Given the description of an element on the screen output the (x, y) to click on. 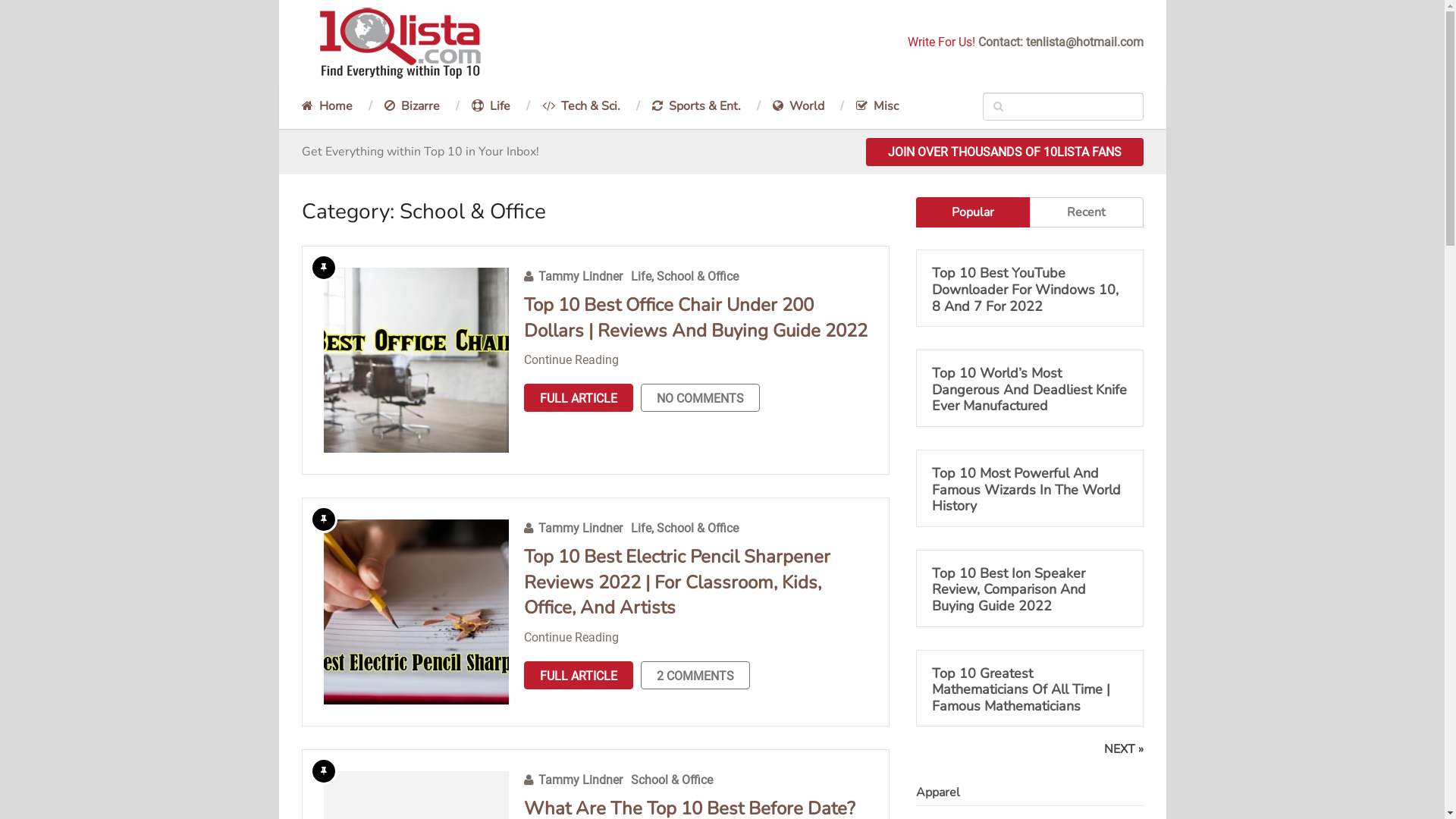
Home Element type: text (334, 106)
School & Office Element type: text (671, 779)
Apparel Element type: text (938, 792)
School & Office Element type: text (697, 527)
Top 10 Most Powerful And Famous Wizards In The World History Element type: text (1028, 489)
World Element type: text (798, 106)
Tech & Sci. Element type: text (581, 106)
JOIN OVER THOUSANDS OF 10LISTA FANS Element type: text (1004, 152)
Tammy Lindner Element type: text (580, 779)
Popular Element type: text (972, 212)
FULL ARTICLE Element type: text (577, 675)
Bizarre Element type: text (411, 106)
2 COMMENTS Element type: text (694, 675)
FULL ARTICLE Element type: text (577, 397)
Life Element type: text (640, 527)
Sports & Ent. Element type: text (695, 106)
NO COMMENTS Element type: text (699, 397)
Tammy Lindner Element type: text (580, 276)
Life Element type: text (640, 276)
Tammy Lindner Element type: text (580, 527)
Life Element type: text (490, 106)
Misc Element type: text (877, 106)
School & Office Element type: text (697, 276)
Write For Us! Element type: text (940, 41)
Recent Element type: text (1086, 212)
